Given the description of an element on the screen output the (x, y) to click on. 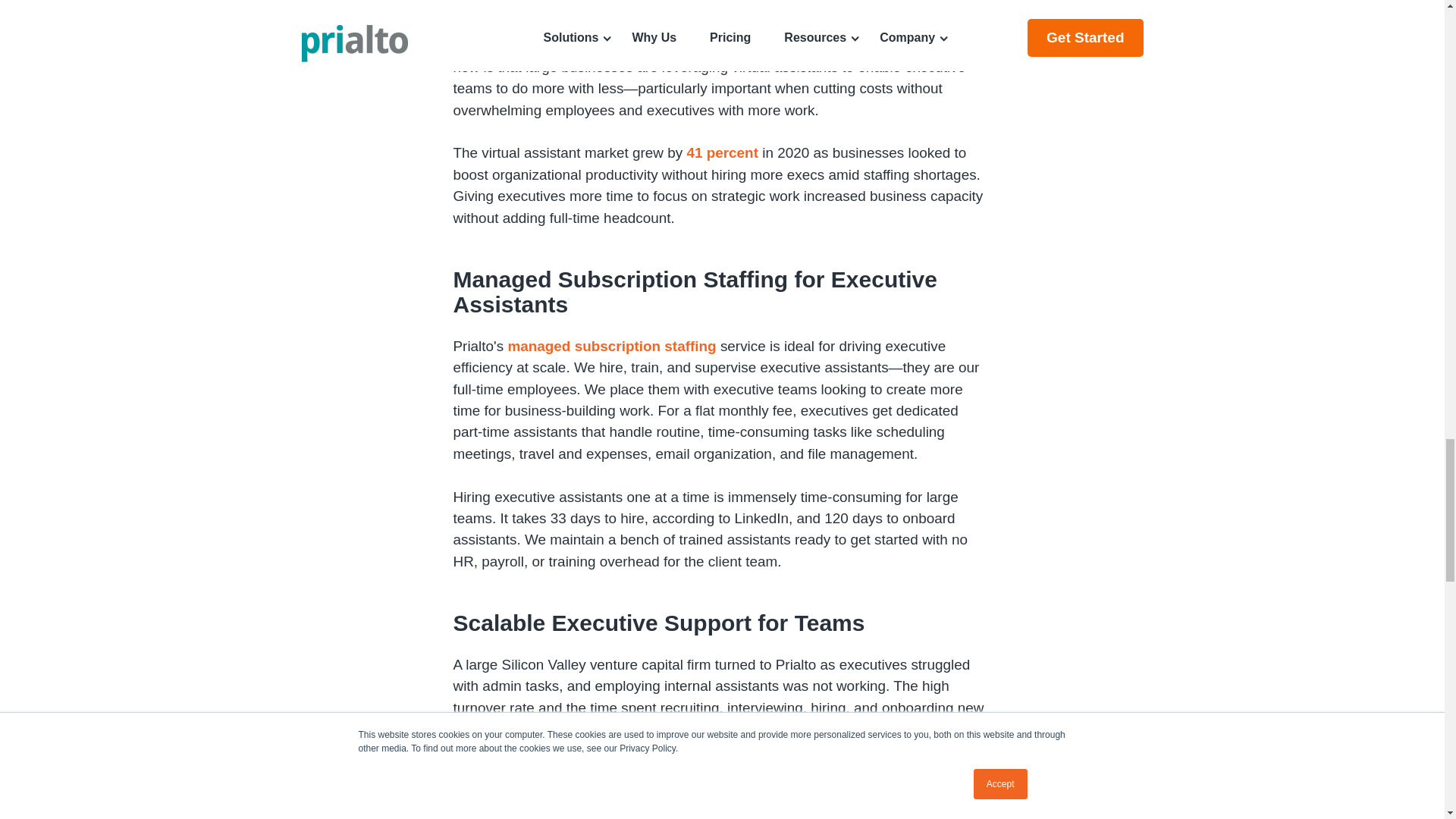
managed subscription staffing (611, 345)
41 percent (721, 152)
